Given the description of an element on the screen output the (x, y) to click on. 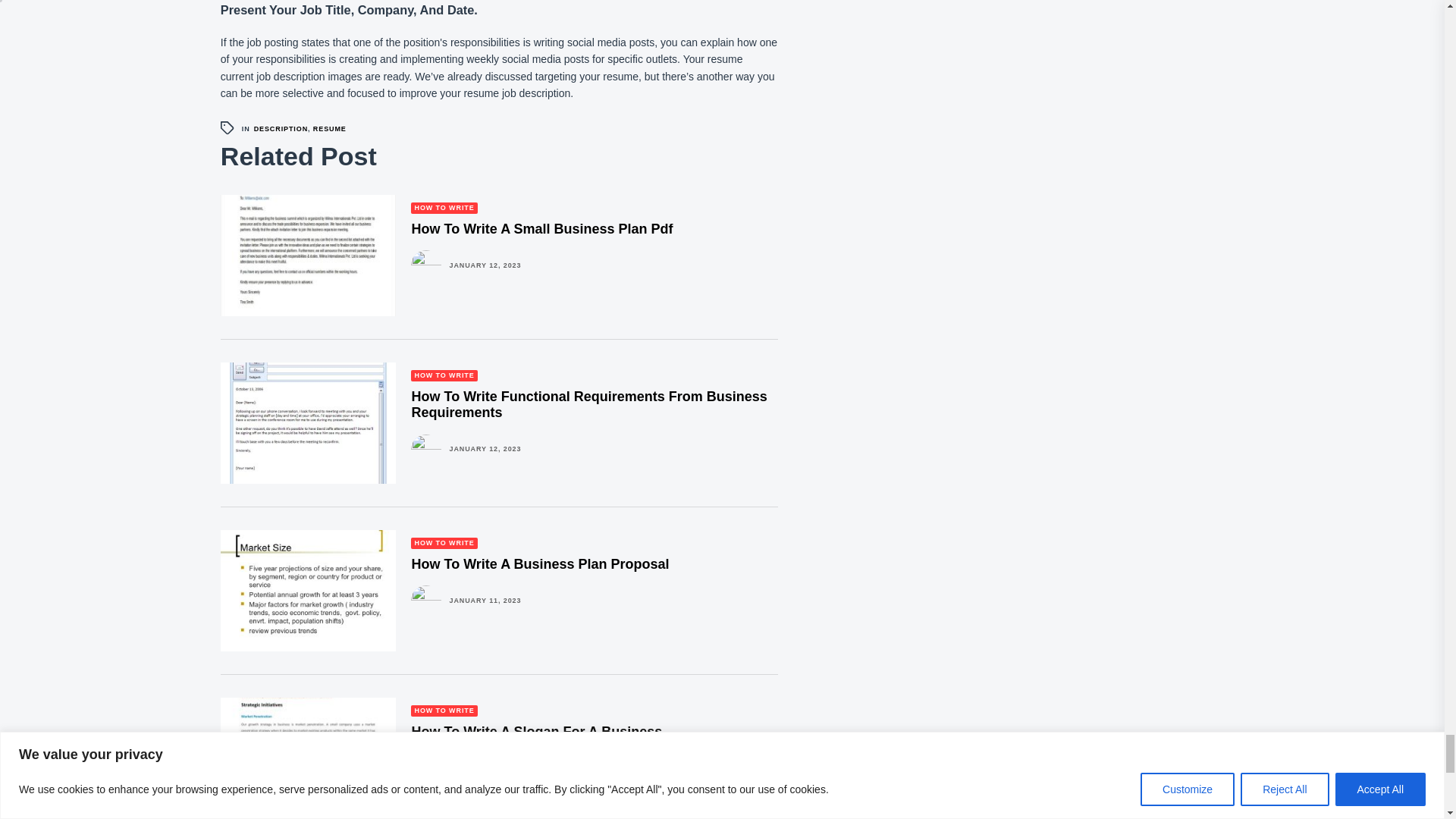
RESUME (329, 128)
DESCRIPTION (280, 128)
HOW TO WRITE (443, 207)
